Given the description of an element on the screen output the (x, y) to click on. 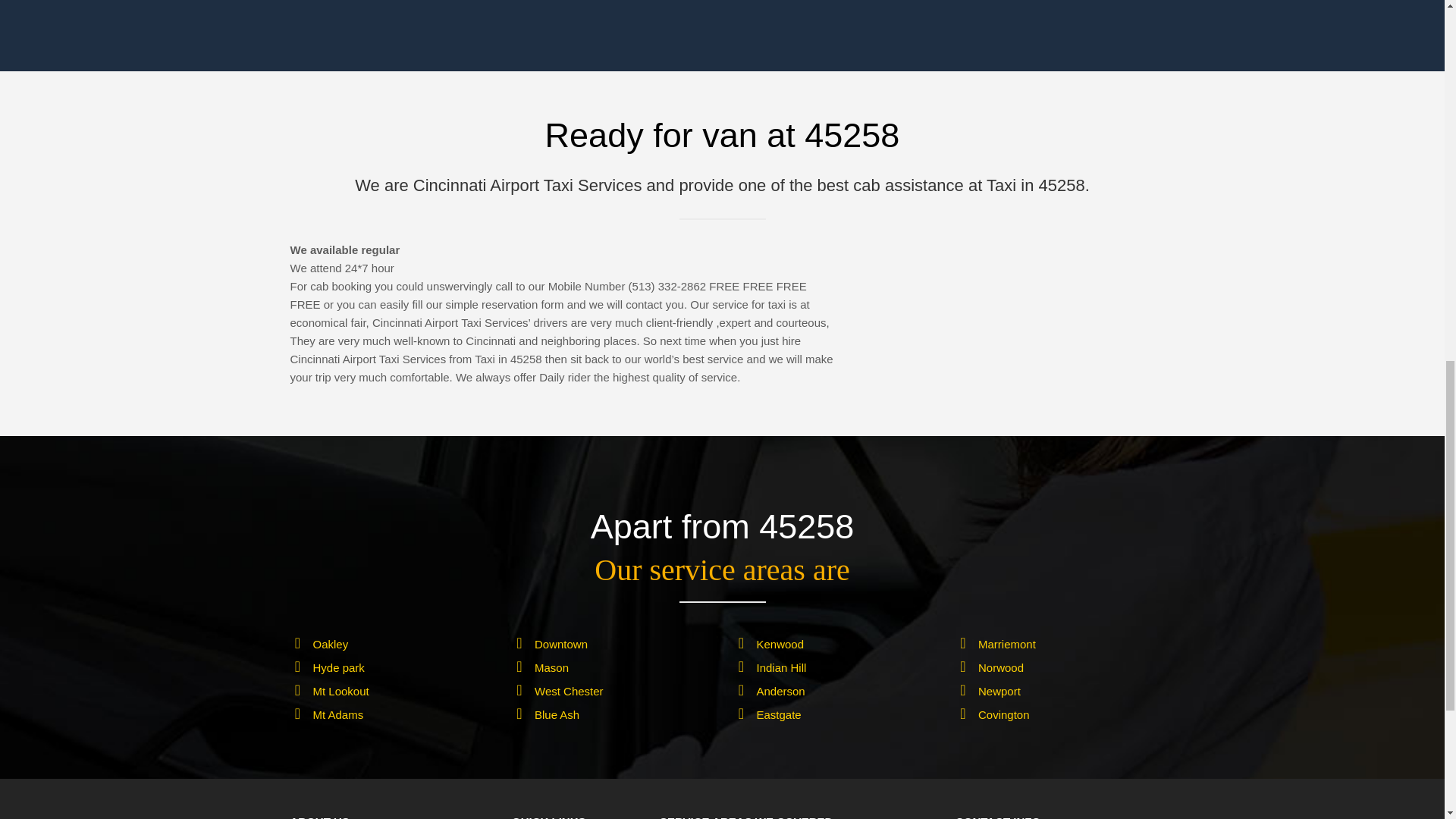
Mt Adams (337, 714)
Mt Lookout (340, 690)
Hyde park (338, 667)
Marriemont (1006, 644)
Anderson (781, 690)
Covington (1003, 714)
Indian Hill (781, 667)
Mason (551, 667)
Norwood (1000, 667)
Blue Ash (556, 714)
Newport (999, 690)
West Chester (569, 690)
Downtown (561, 644)
Oakley (330, 644)
Eastgate (779, 714)
